Given the description of an element on the screen output the (x, y) to click on. 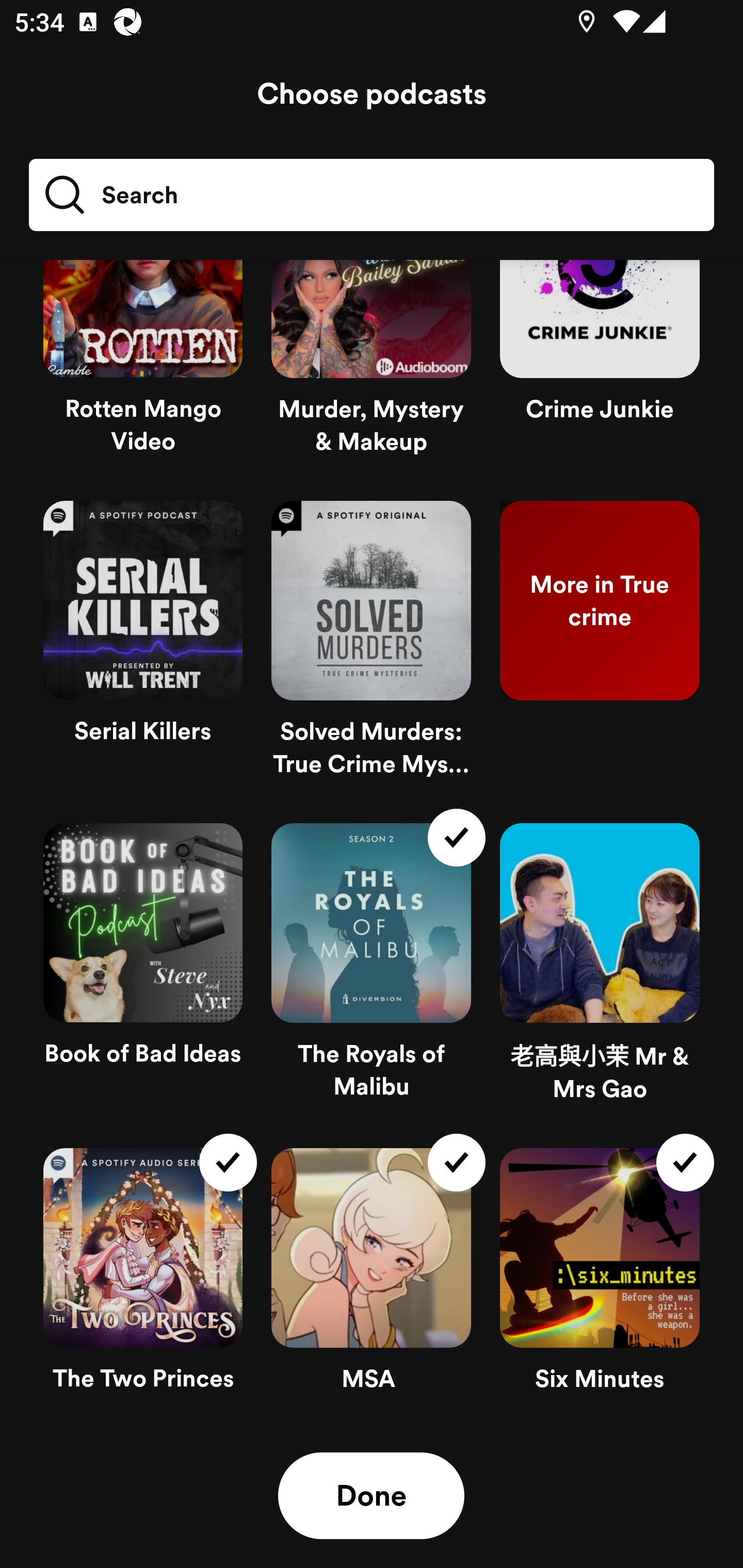
Search (371, 195)
Search (110, 195)
Rotten Mango Video unselected Rotten Mango Video (142, 373)
Crime Junkie unselected Crime Junkie (599, 373)
Serial Killers unselected Serial Killers (142, 647)
More in True crime (599, 647)
Book of Bad Ideas unselected Book of Bad Ideas (142, 971)
The Royals of Malibu selected The Royals of Malibu (371, 971)
老高與小茉 Mr & Mrs Gao unselected 老高與小茉 Mr & Mrs Gao (599, 971)
The Two Princes selected The Two Princes (142, 1278)
MSA  selected MSA  (371, 1278)
Six Minutes selected Six Minutes (599, 1278)
Done (370, 1495)
